Given the description of an element on the screen output the (x, y) to click on. 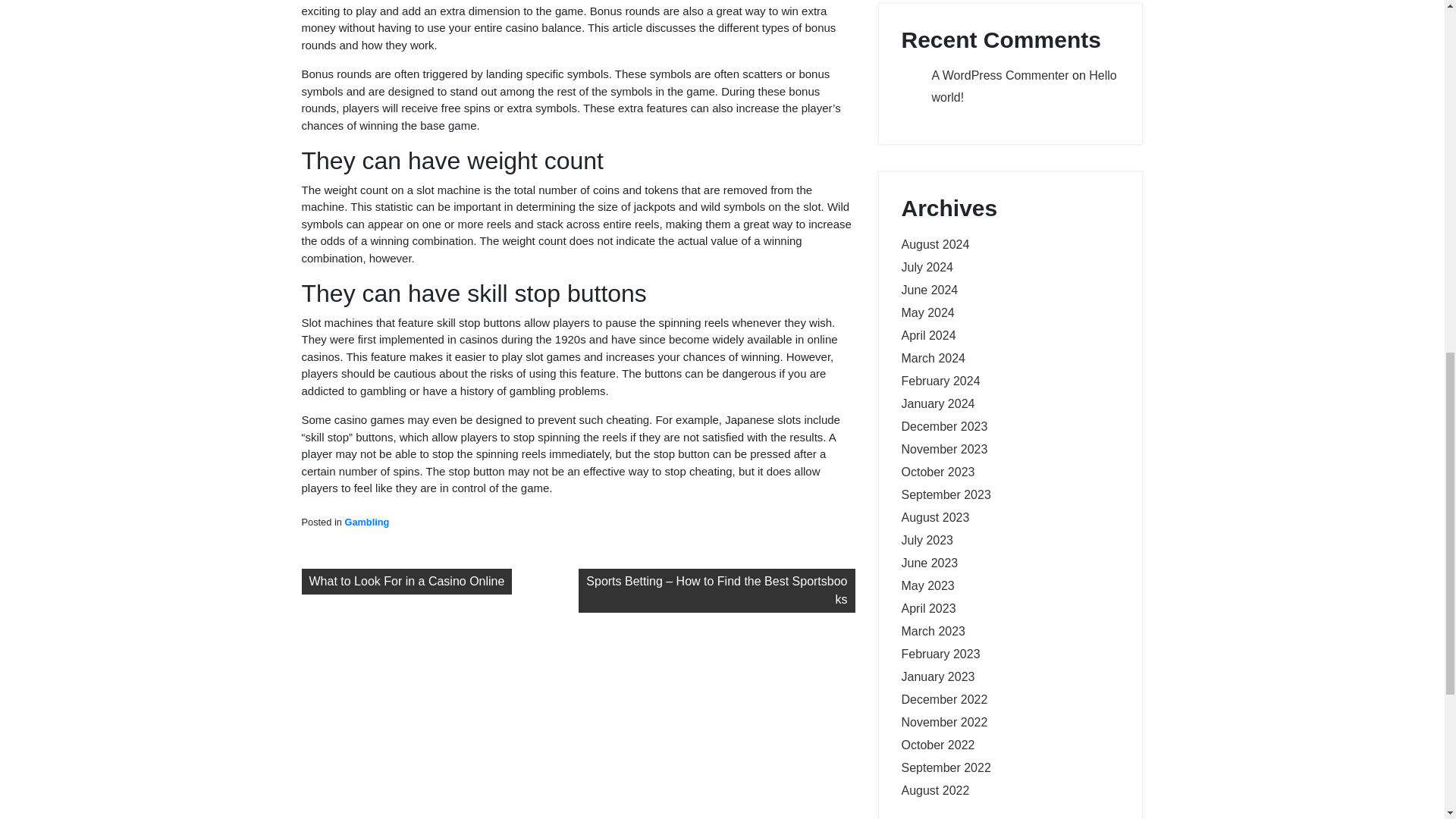
July 2023 (927, 540)
December 2022 (944, 698)
What to Look For in a Casino Online (406, 581)
October 2023 (937, 472)
February 2023 (940, 653)
June 2024 (929, 289)
September 2022 (945, 767)
January 2024 (937, 403)
September 2023 (945, 494)
March 2023 (933, 631)
